Given the description of an element on the screen output the (x, y) to click on. 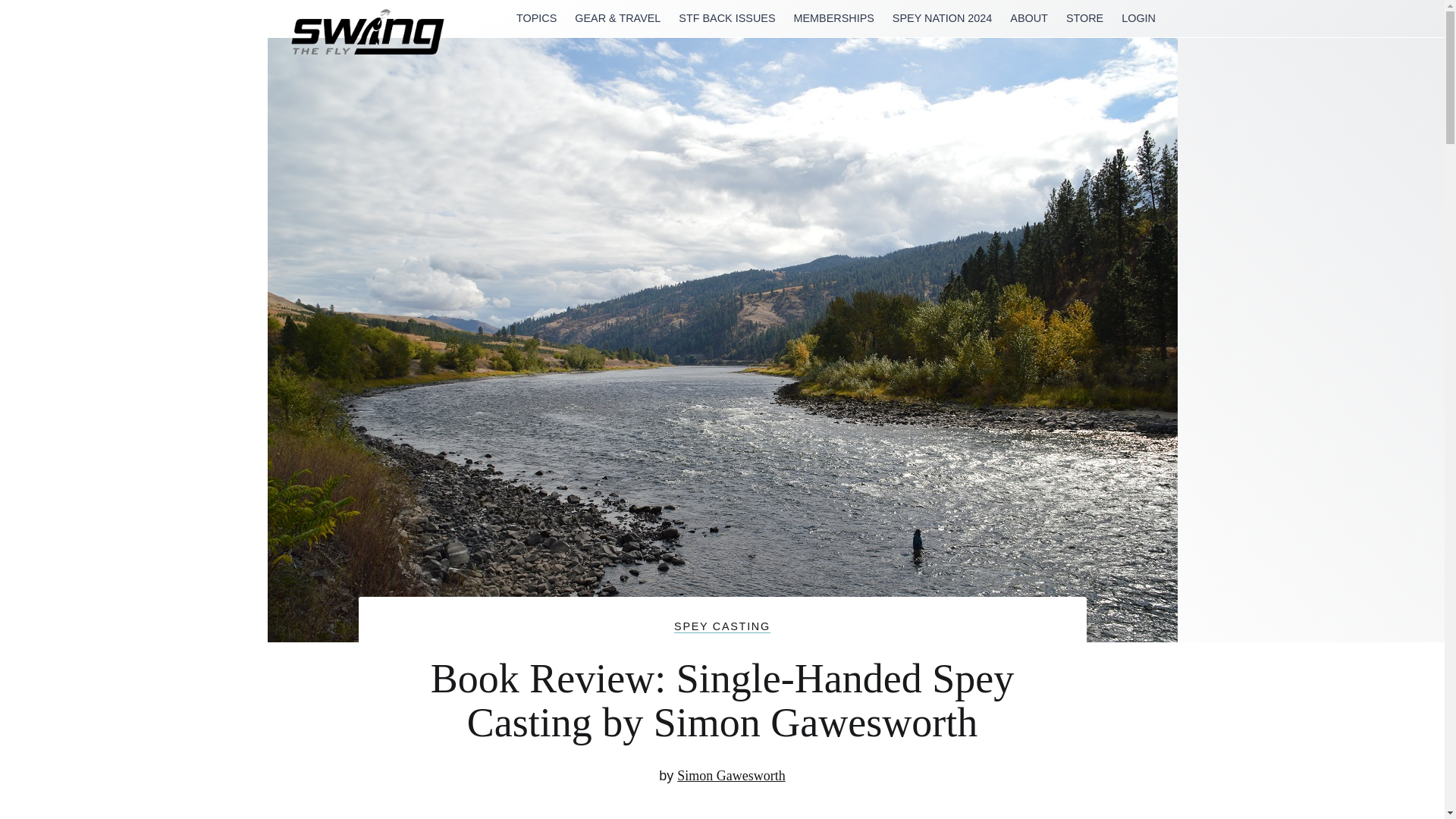
SPEY NATION 2024 (941, 18)
MEMBERSHIPS (833, 18)
STF BACK ISSUES (726, 18)
ABOUT (1029, 18)
Swing the Fly (331, 84)
TOPICS (536, 18)
